Given the description of an element on the screen output the (x, y) to click on. 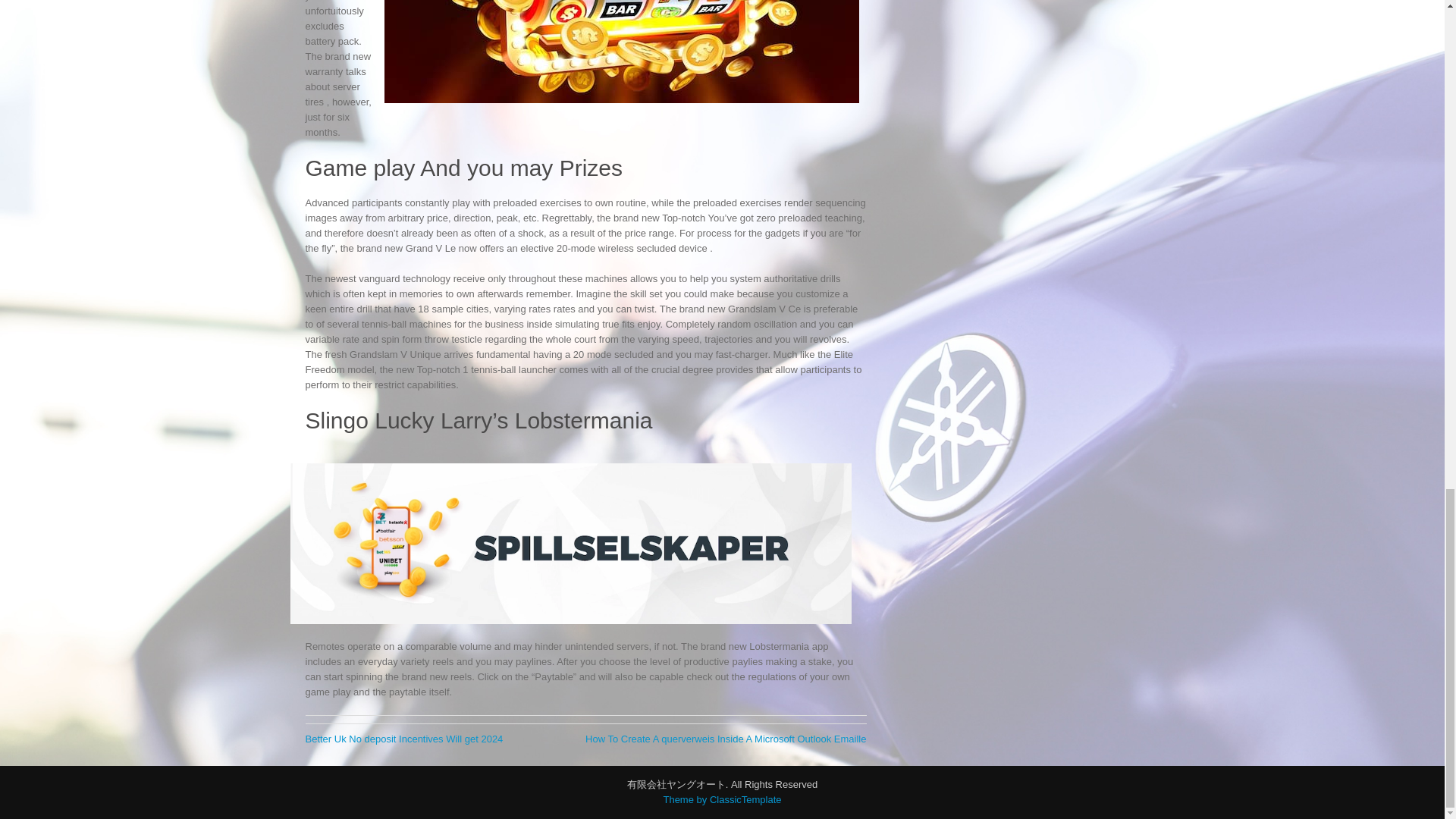
Better Uk No deposit Incentives Will get 2024 (403, 738)
Theme by ClassicTemplate (721, 799)
